Given the description of an element on the screen output the (x, y) to click on. 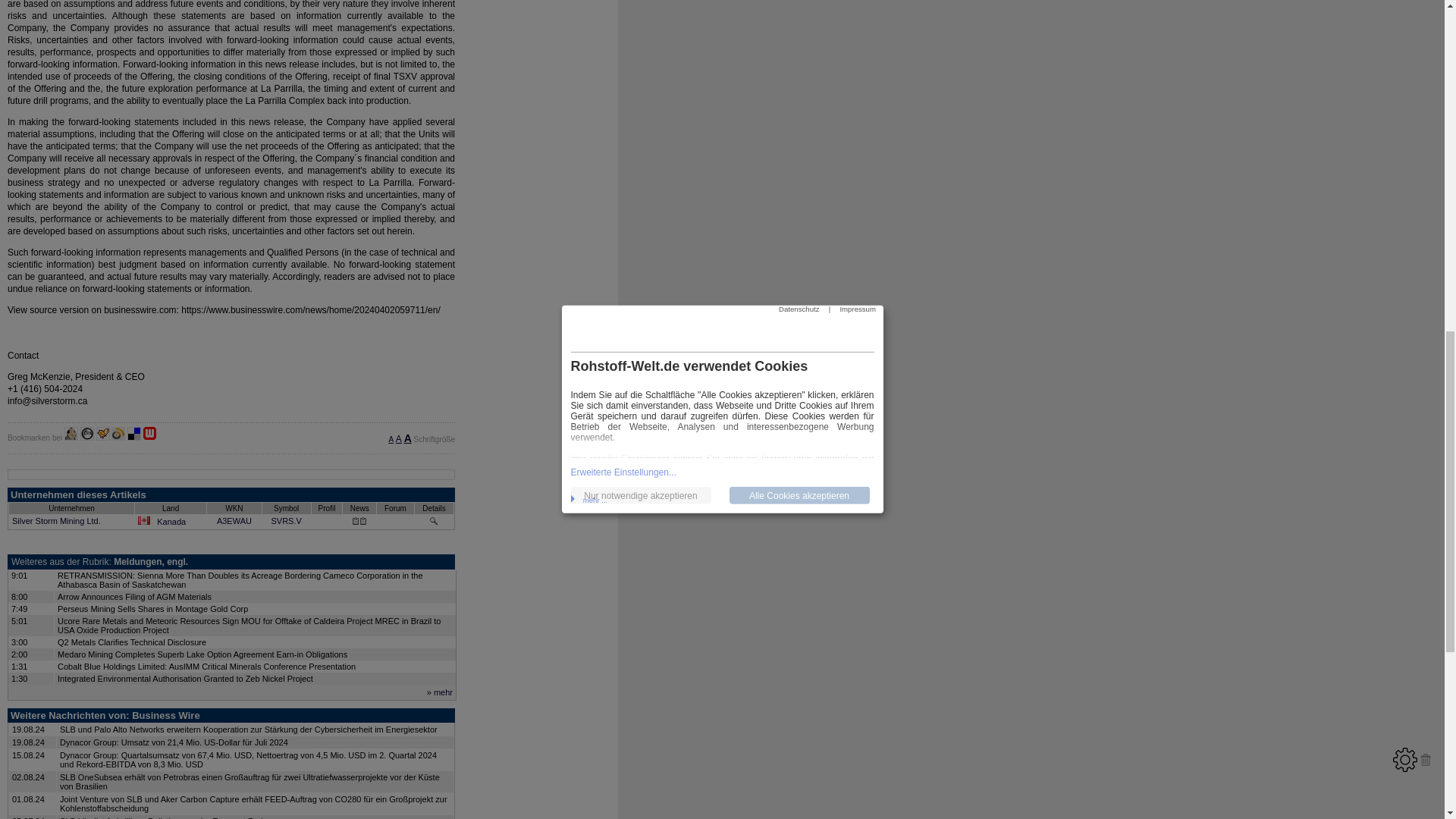
Kanada (171, 521)
YiGG (103, 433)
Mister Wong (71, 433)
Wikio (118, 433)
Webnews (149, 433)
del.icio.us (134, 433)
A3EWAU (233, 520)
Silver Storm Mining Ltd. (55, 520)
Furl (87, 433)
SVRS.V (285, 520)
